Given the description of an element on the screen output the (x, y) to click on. 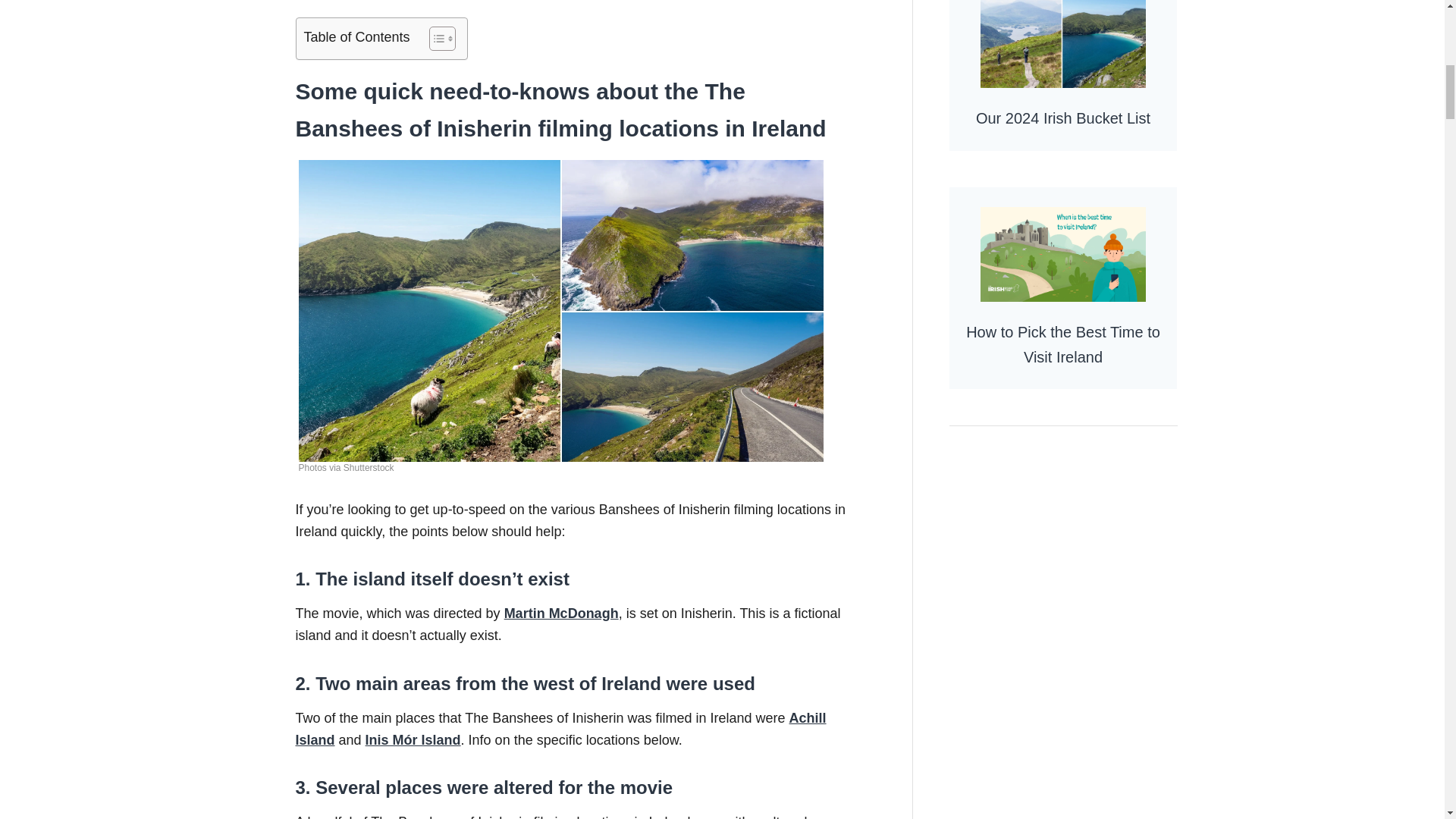
Martin McDonagh (560, 613)
Achill Island (561, 728)
